Given the description of an element on the screen output the (x, y) to click on. 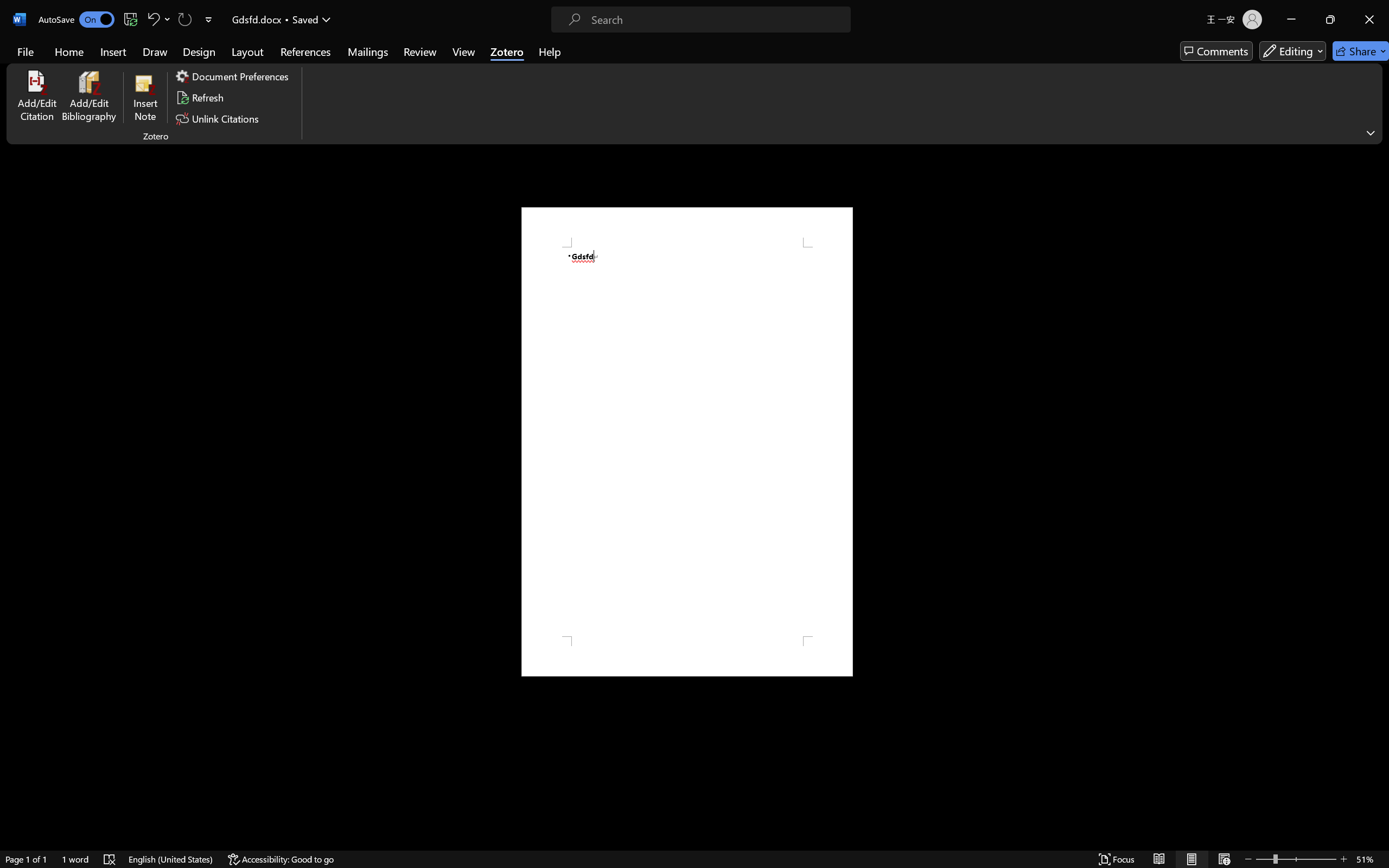
Page 1 content (686, 441)
